Given the description of an element on the screen output the (x, y) to click on. 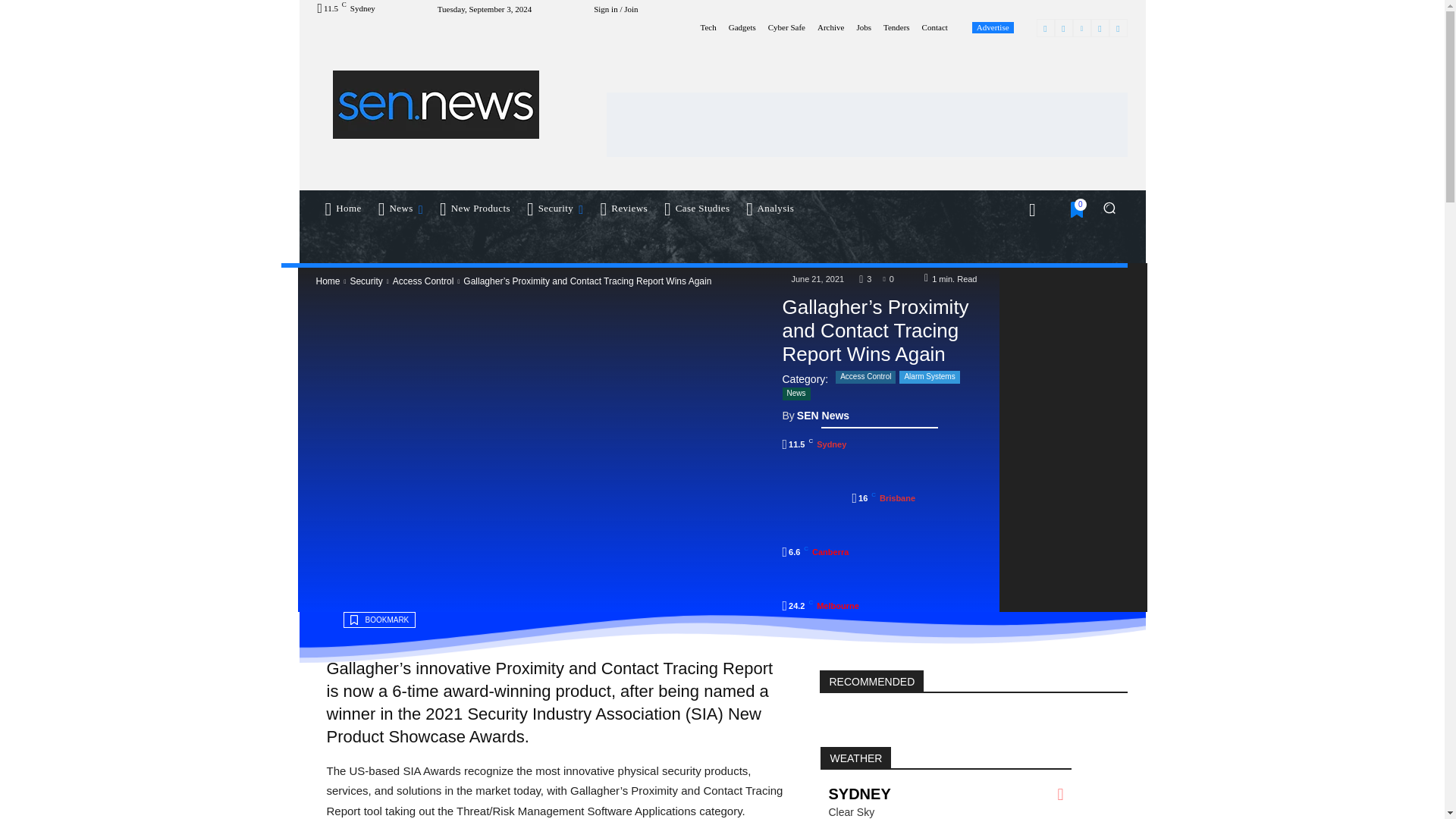
Tenders (896, 27)
Contact (934, 27)
Home (343, 208)
Tech (708, 27)
Jobs (863, 27)
Cyber Safe (786, 27)
News (401, 208)
Gadgets (742, 27)
Facebook (1044, 27)
Instagram (1062, 27)
